Given the description of an element on the screen output the (x, y) to click on. 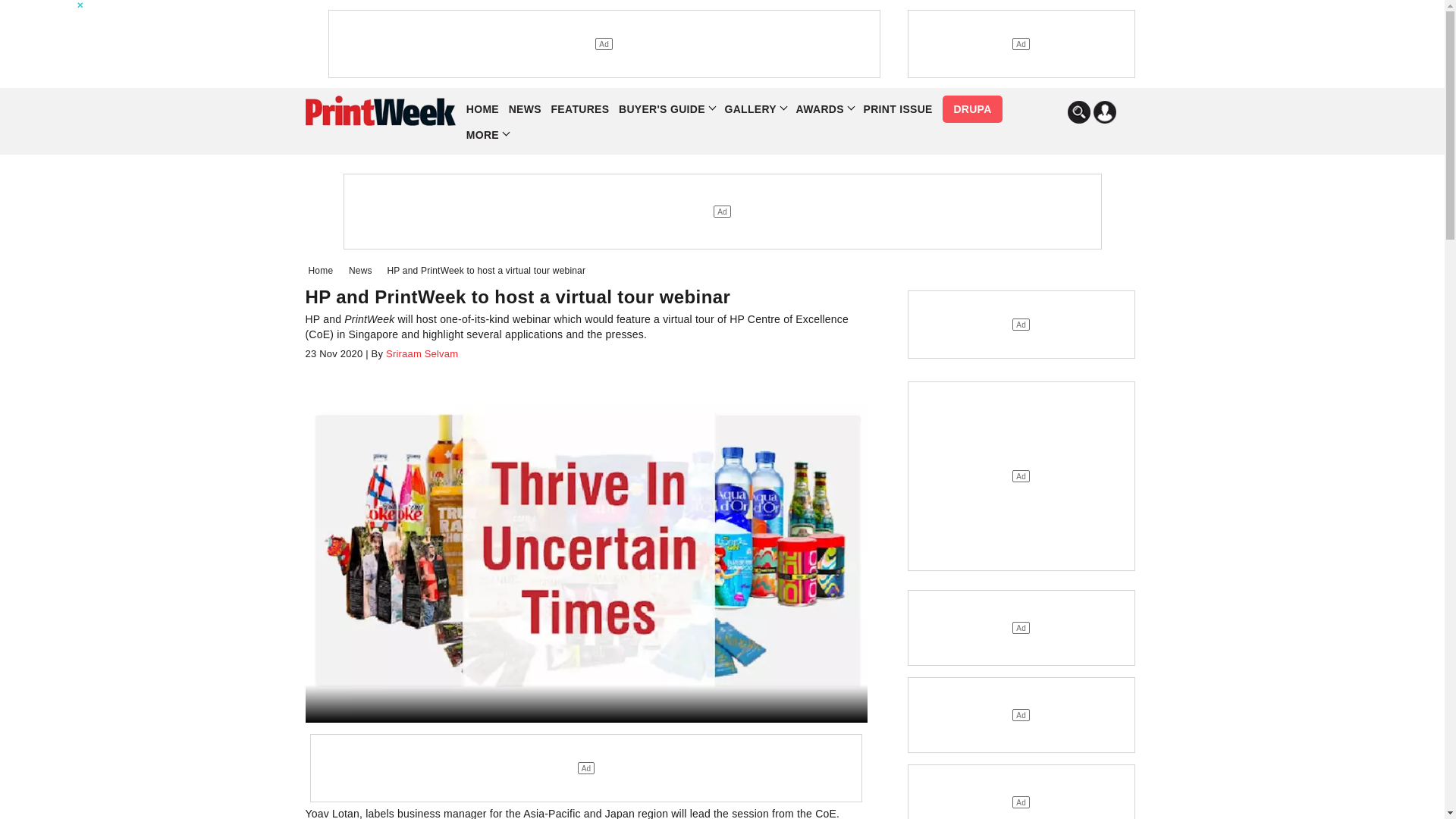
GALLERY (754, 109)
PrintWeek Logo (379, 110)
Buyer's Guide (666, 109)
AWARDS (825, 109)
Home (323, 270)
FEATURES (580, 109)
DRUPA (971, 108)
HOME (482, 109)
BUYER'S GUIDE (666, 109)
Search In PrintWeek India Website (1078, 111)
